Given the description of an element on the screen output the (x, y) to click on. 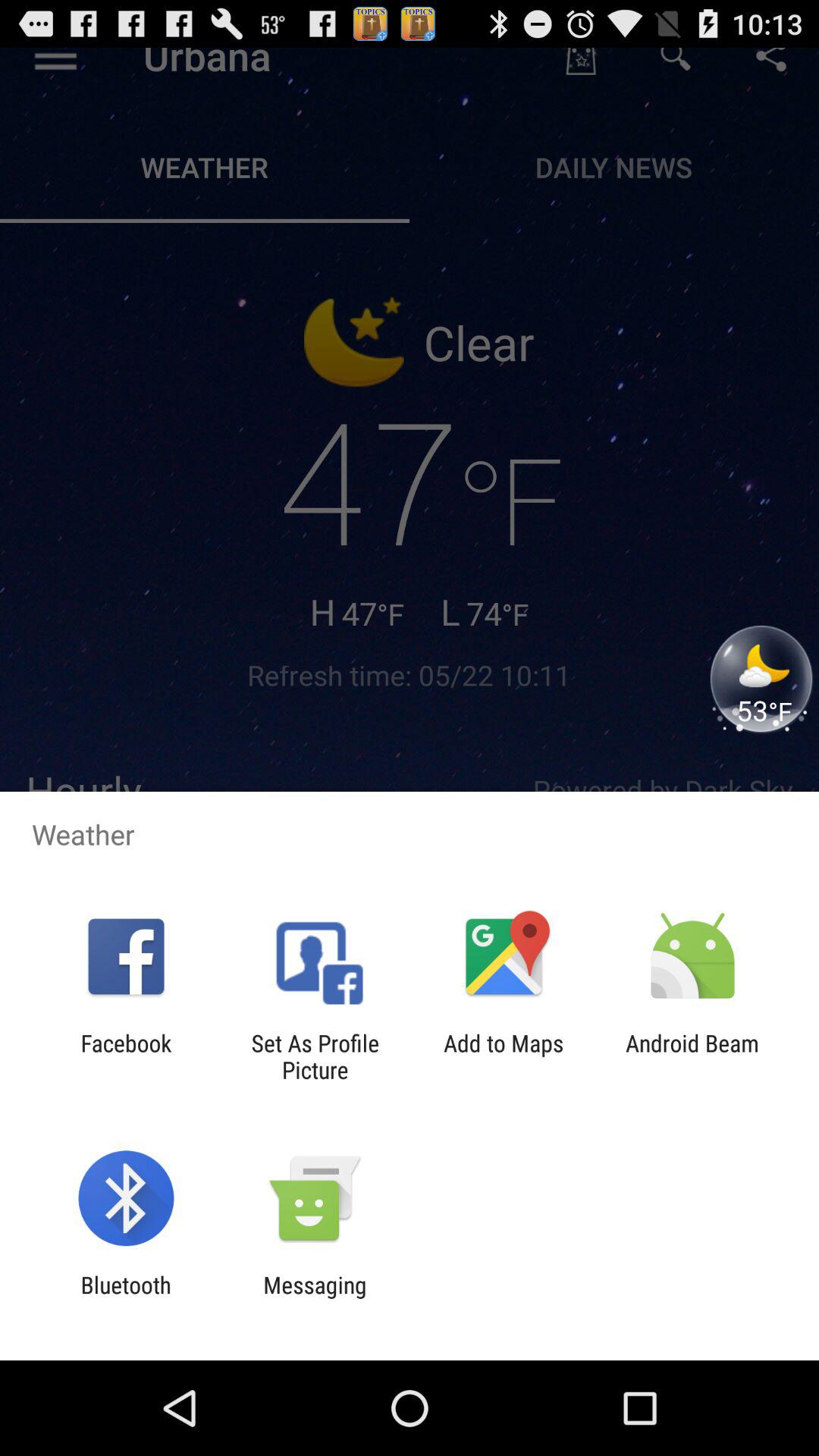
choose the item to the left of add to maps app (314, 1056)
